Given the description of an element on the screen output the (x, y) to click on. 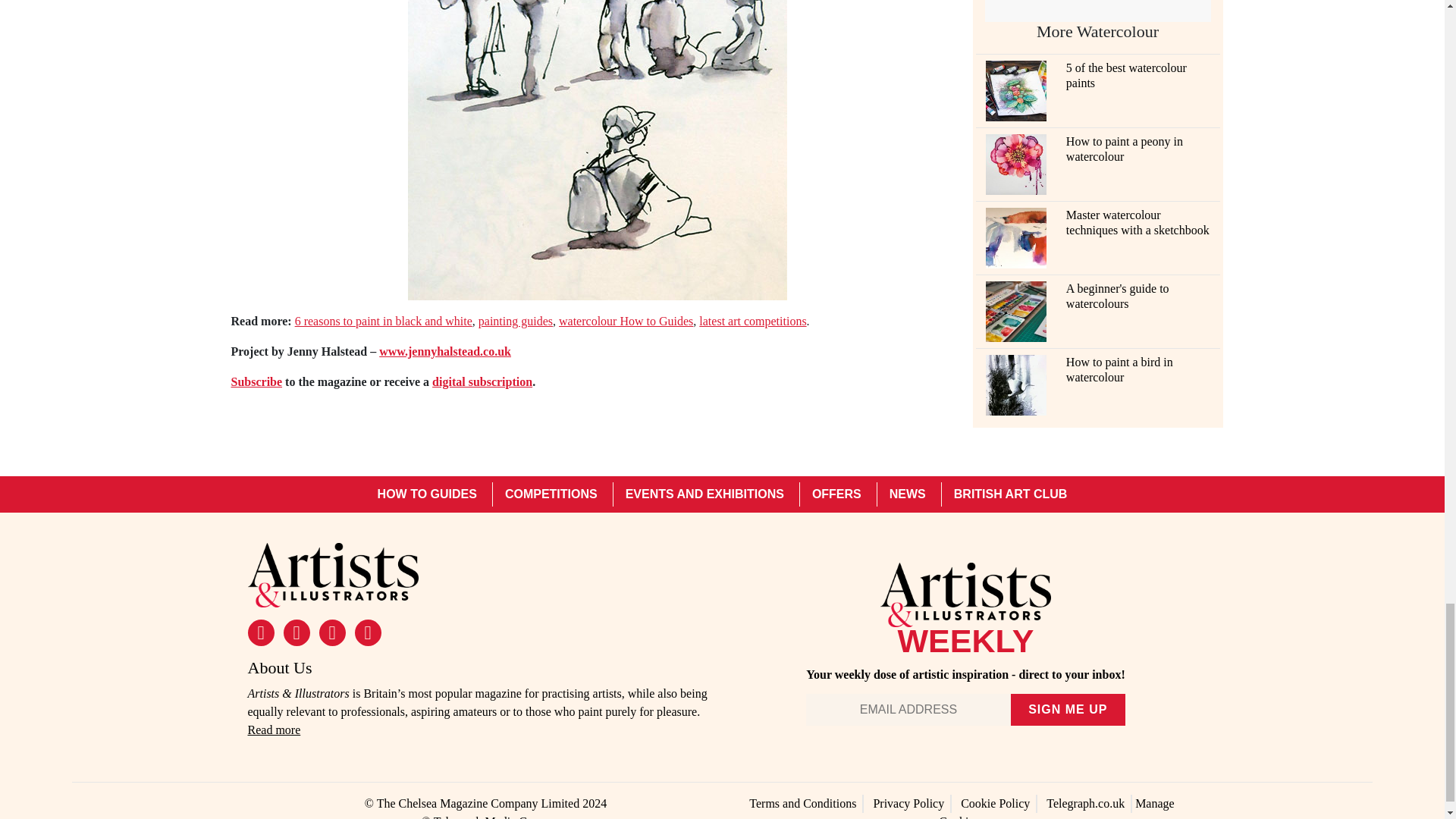
About Us (273, 729)
